Given the description of an element on the screen output the (x, y) to click on. 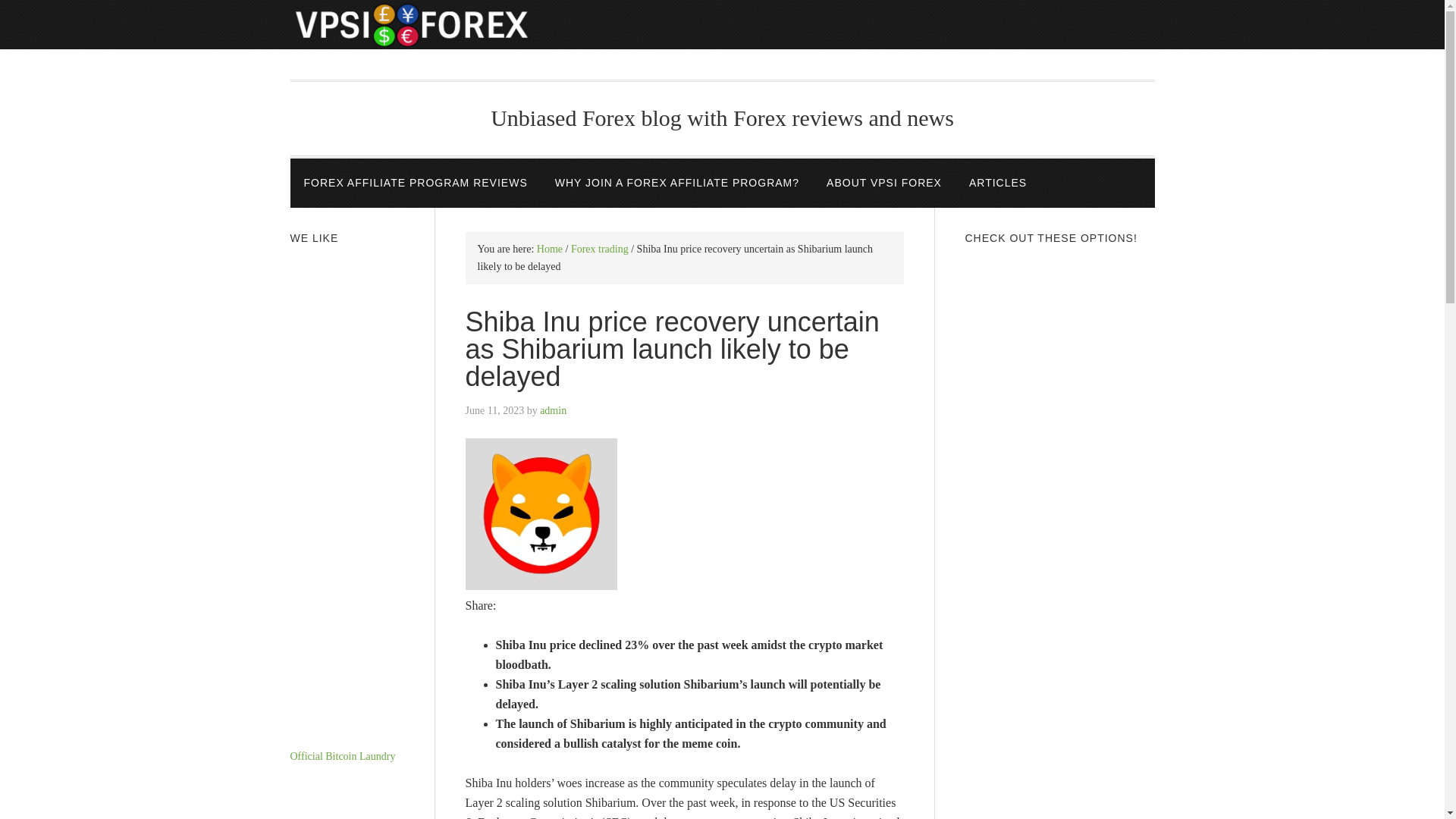
Official Bitcoin Laundry (341, 756)
Forex trading (599, 248)
ARTICLES (998, 183)
Home (549, 248)
ABOUT VPSI FOREX (883, 183)
FOREX AFFILIATE PROGRAM REVIEWS (414, 183)
admin (553, 410)
WHY JOIN A FOREX AFFILIATE PROGRAM? (676, 183)
